Given the description of an element on the screen output the (x, y) to click on. 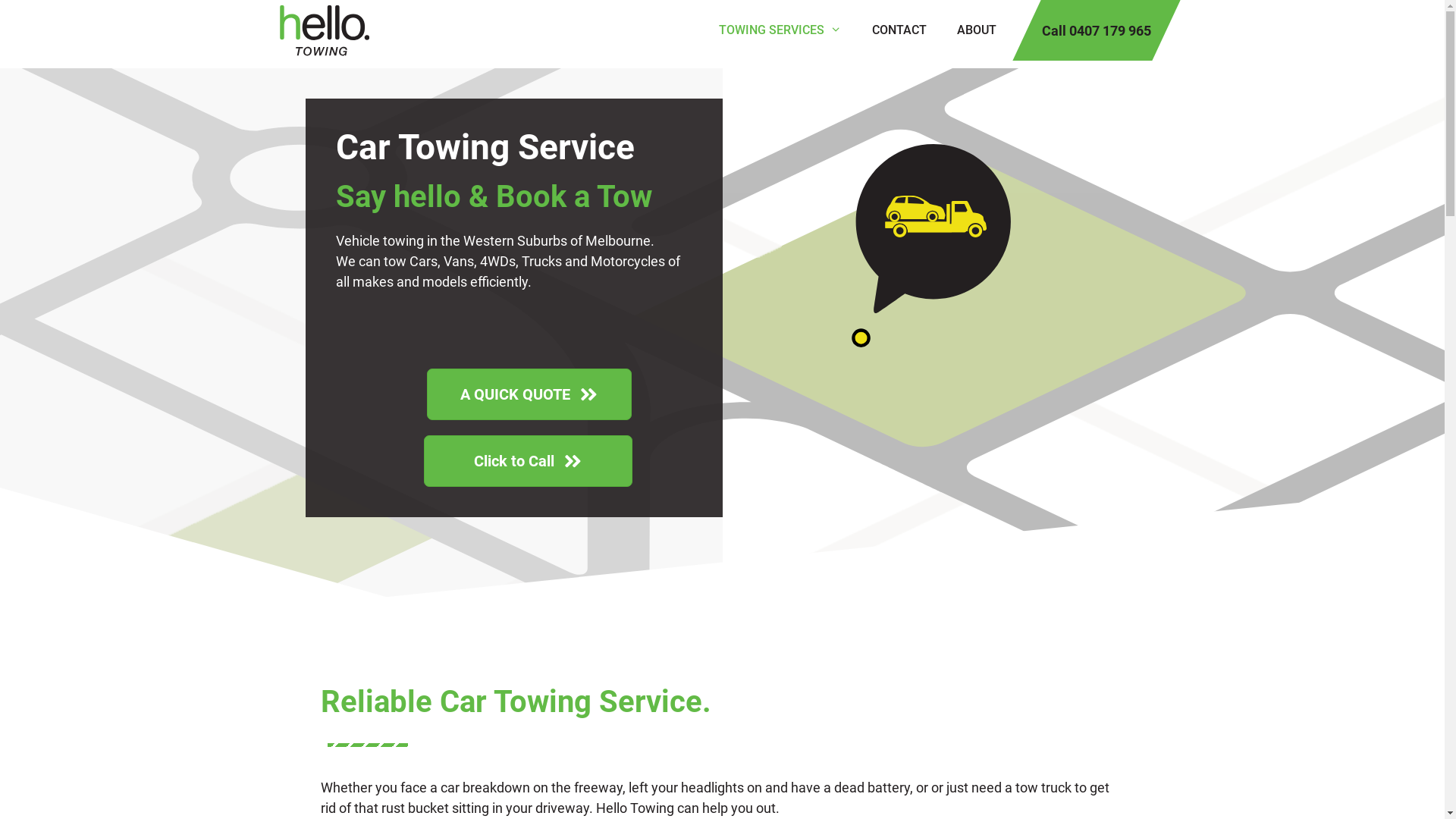
Click to Call Element type: text (527, 460)
Call 0407 179 965 Element type: text (1096, 29)
Car towing header icon Element type: hover (930, 245)
ABOUT Element type: text (976, 30)
A QUICK QUOTE Element type: text (528, 394)
CONTACT Element type: text (898, 30)
TOWING SERVICES Element type: text (779, 30)
